Given the description of an element on the screen output the (x, y) to click on. 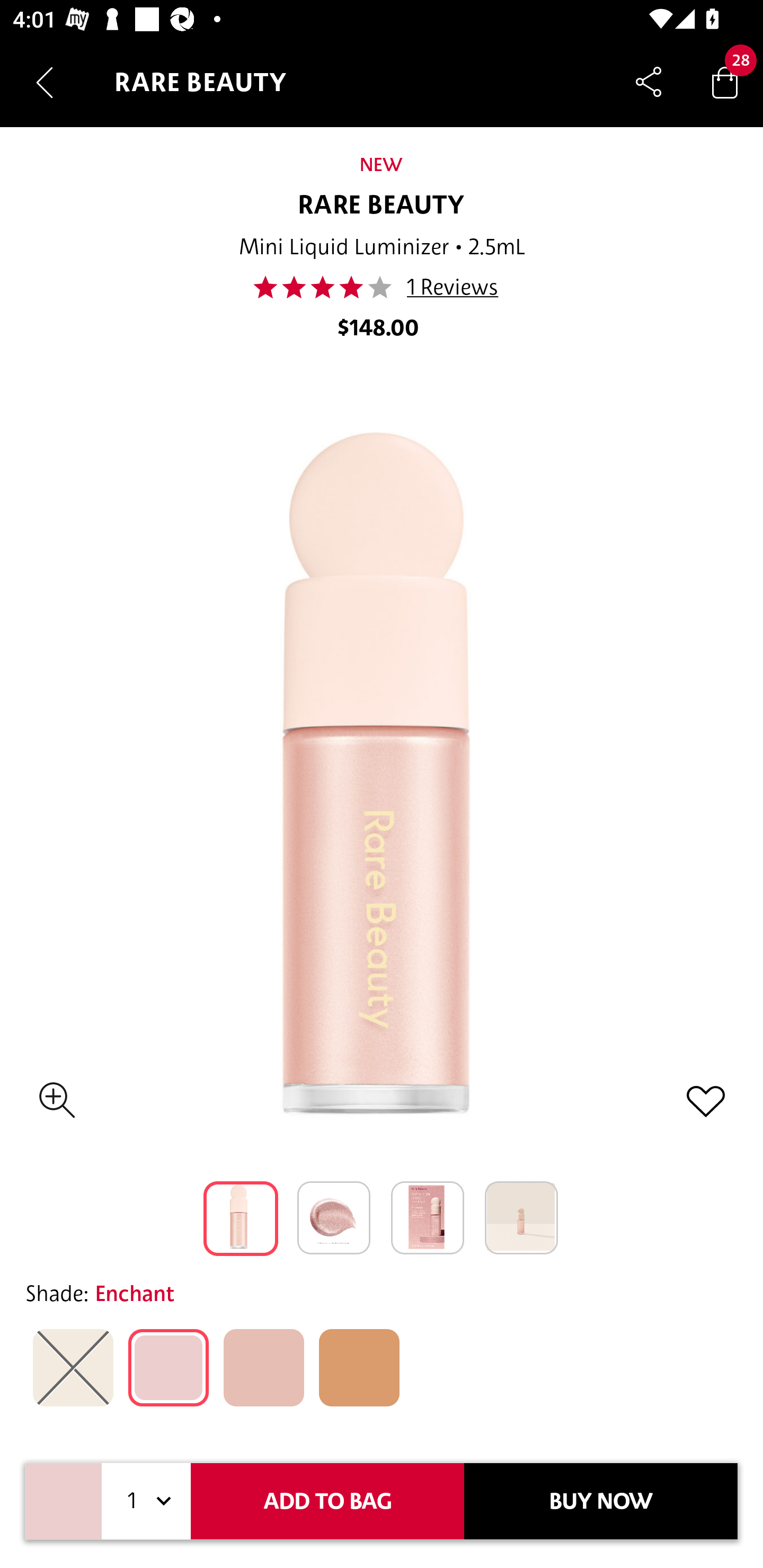
Navigate up (44, 82)
Share (648, 81)
Bag (724, 81)
RARE BEAUTY (381, 205)
40.0 1 Reviews (381, 286)
1 (145, 1500)
ADD TO BAG (326, 1500)
BUY NOW (600, 1500)
